Given the description of an element on the screen output the (x, y) to click on. 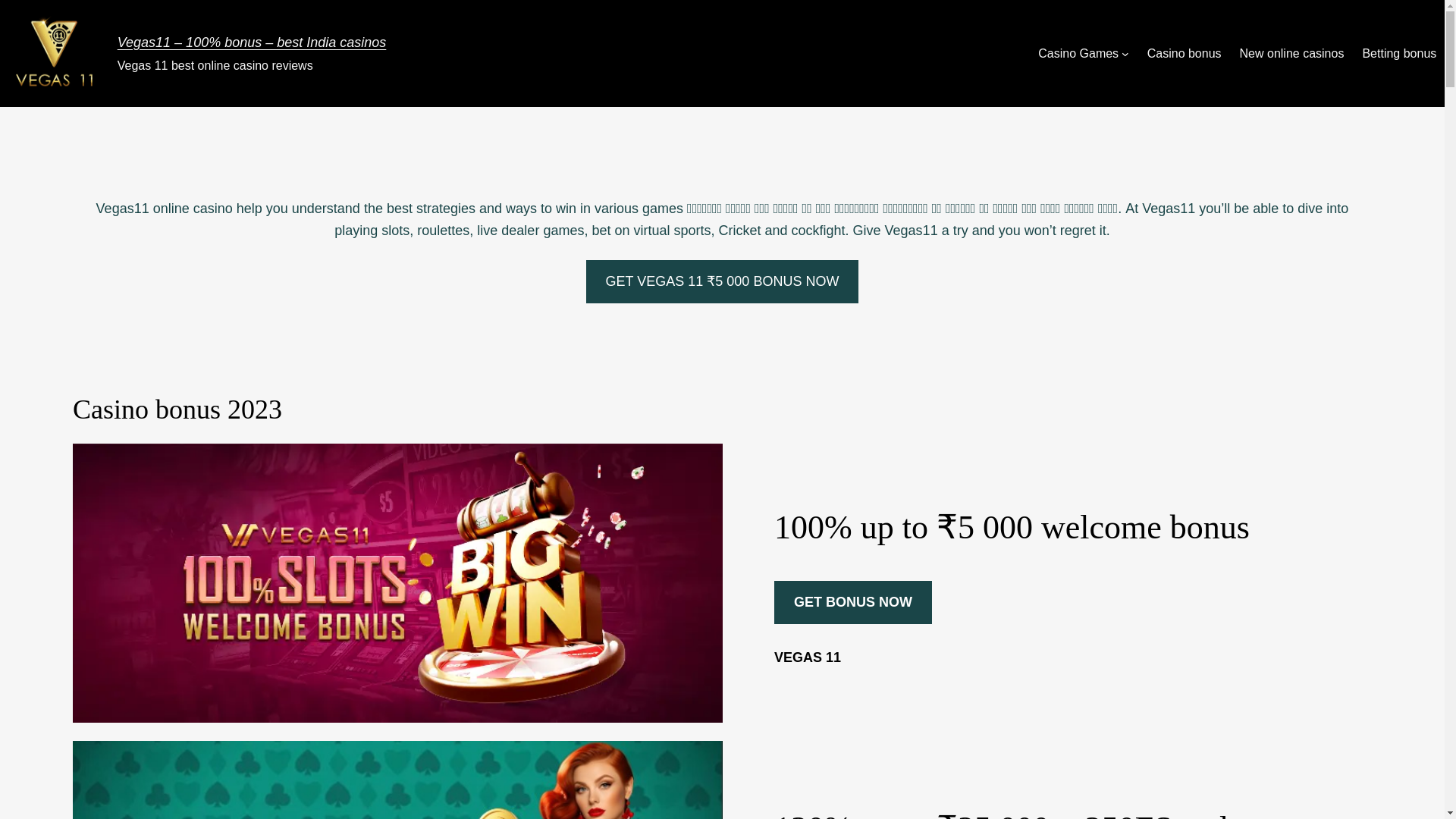
Casino Games (1078, 53)
Betting bonus (1398, 53)
Casino bonus (1184, 53)
GET BONUS NOW (852, 602)
New online casinos (1291, 53)
